Given the description of an element on the screen output the (x, y) to click on. 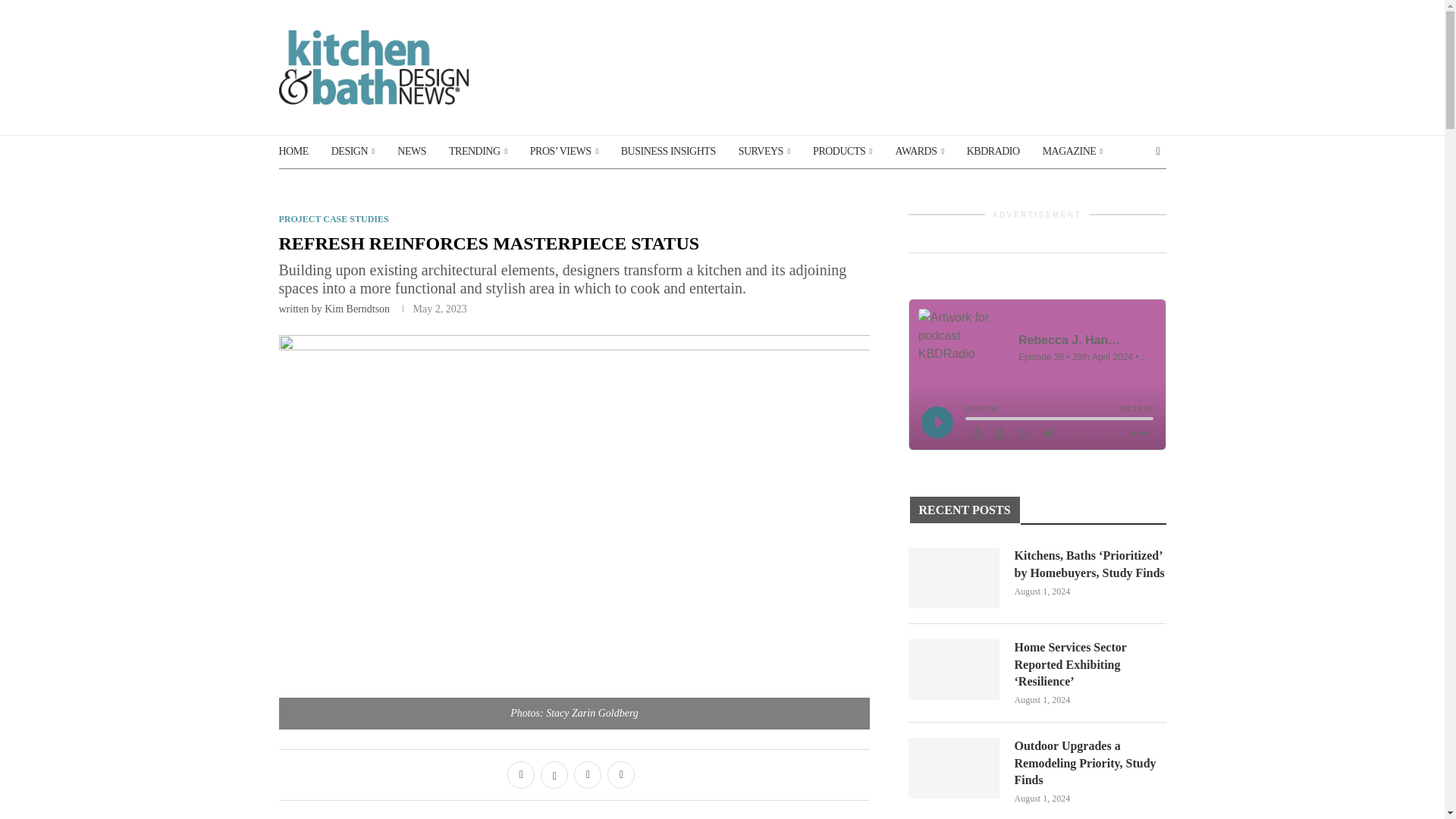
AWARDS (919, 151)
HOME (293, 151)
BUSINESS INSIGHTS (668, 151)
SURVEYS (764, 151)
TRENDING (477, 151)
PRODUCTS (842, 151)
DESIGN (353, 151)
